Given the description of an element on the screen output the (x, y) to click on. 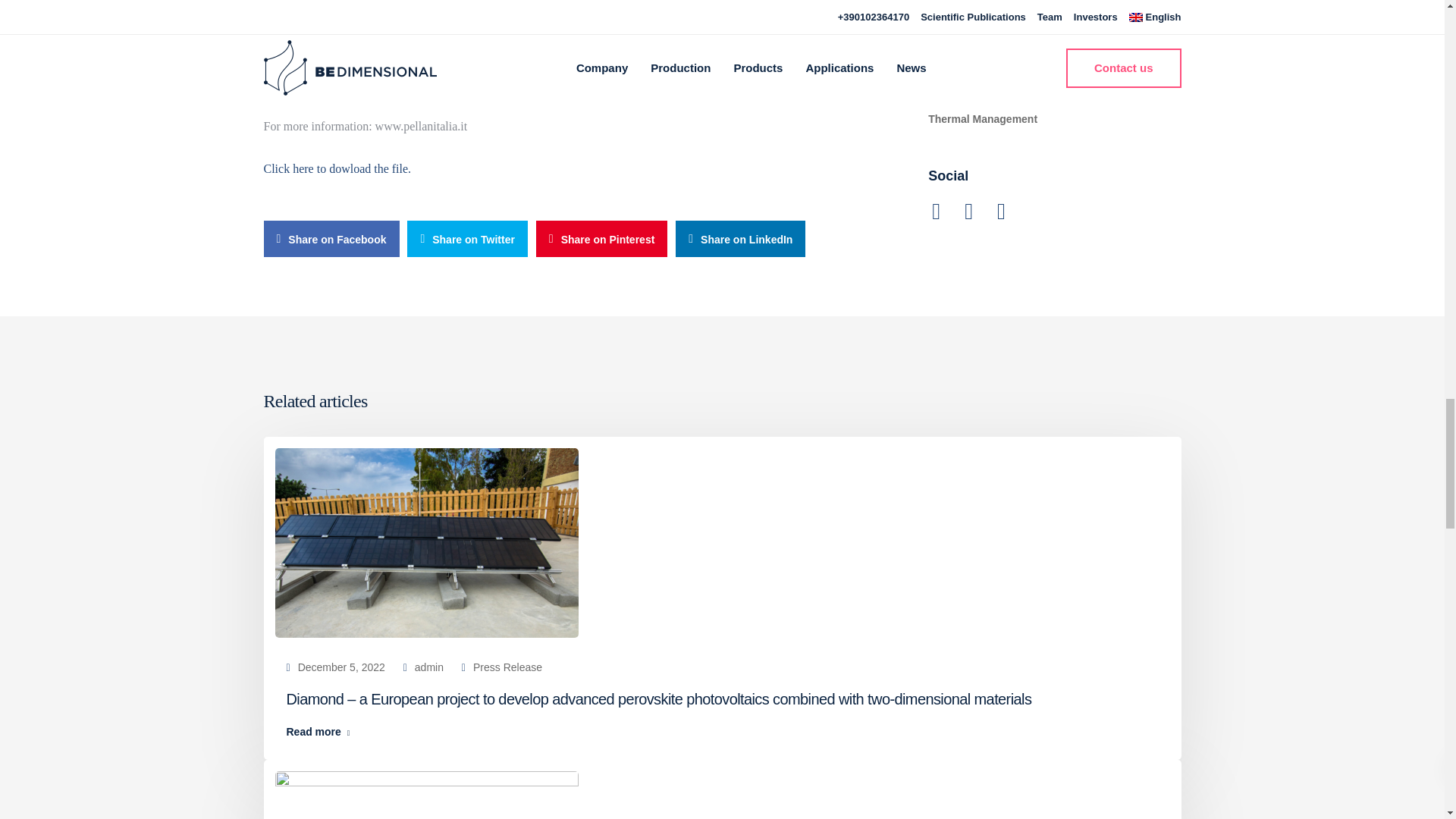
Share on LinkedIn (740, 238)
Share on Twitter (467, 238)
Posts by admin (429, 666)
Press Release (507, 666)
Share on Pinterest (601, 238)
Click here to dowload the file. (337, 168)
Share on Facebook (330, 238)
admin (429, 666)
